Given the description of an element on the screen output the (x, y) to click on. 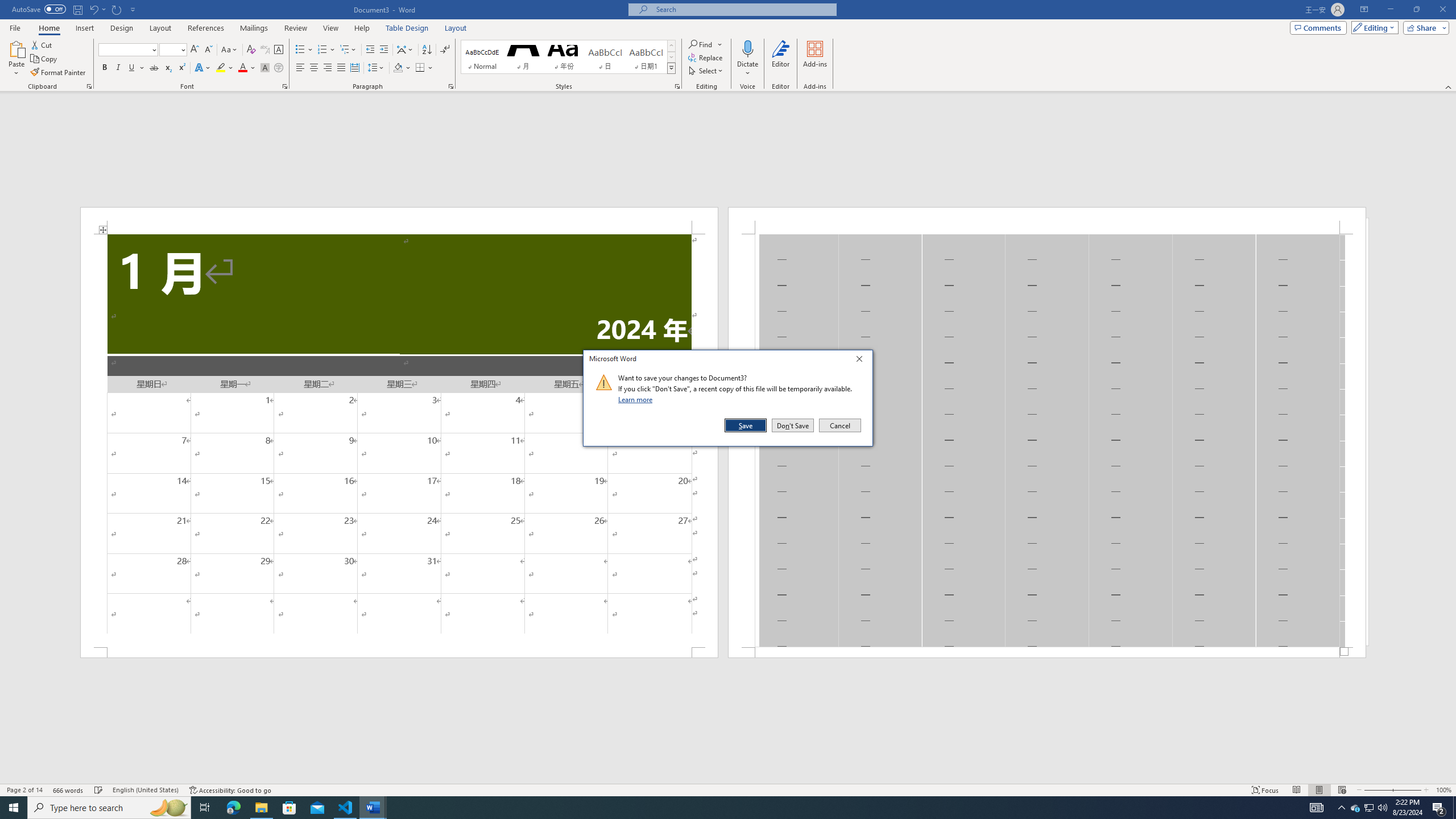
Footer -Section 1- (1046, 652)
Strikethrough (154, 67)
Paragraph... (450, 85)
Character Border (278, 49)
Increase Indent (383, 49)
Undo Apply Quick Style (96, 9)
Shading RGB(0, 0, 0) (397, 67)
